Given the description of an element on the screen output the (x, y) to click on. 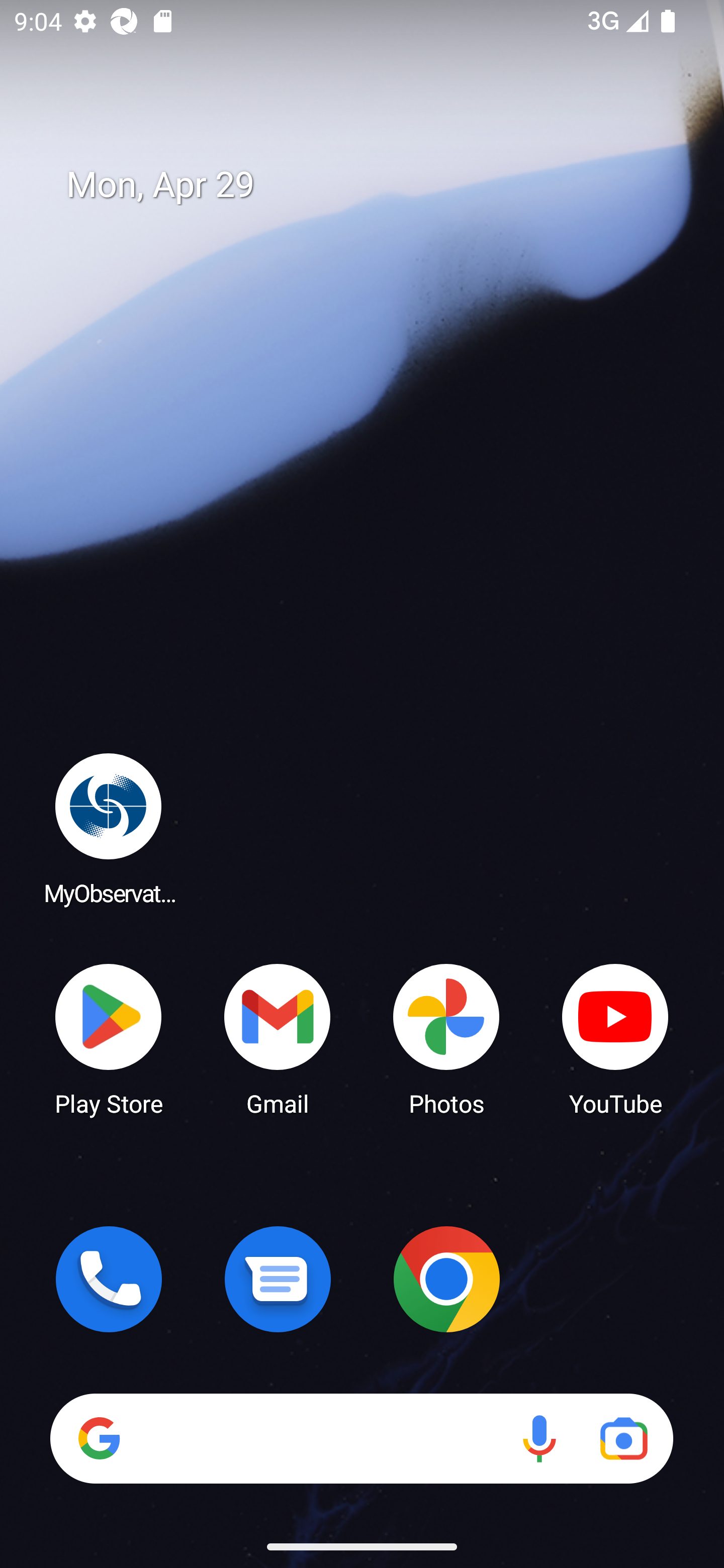
Mon, Apr 29 (375, 184)
MyObservatory (108, 828)
Play Store (108, 1038)
Gmail (277, 1038)
Photos (445, 1038)
YouTube (615, 1038)
Phone (108, 1279)
Messages (277, 1279)
Chrome (446, 1279)
Voice search (539, 1438)
Google Lens (623, 1438)
